Given the description of an element on the screen output the (x, y) to click on. 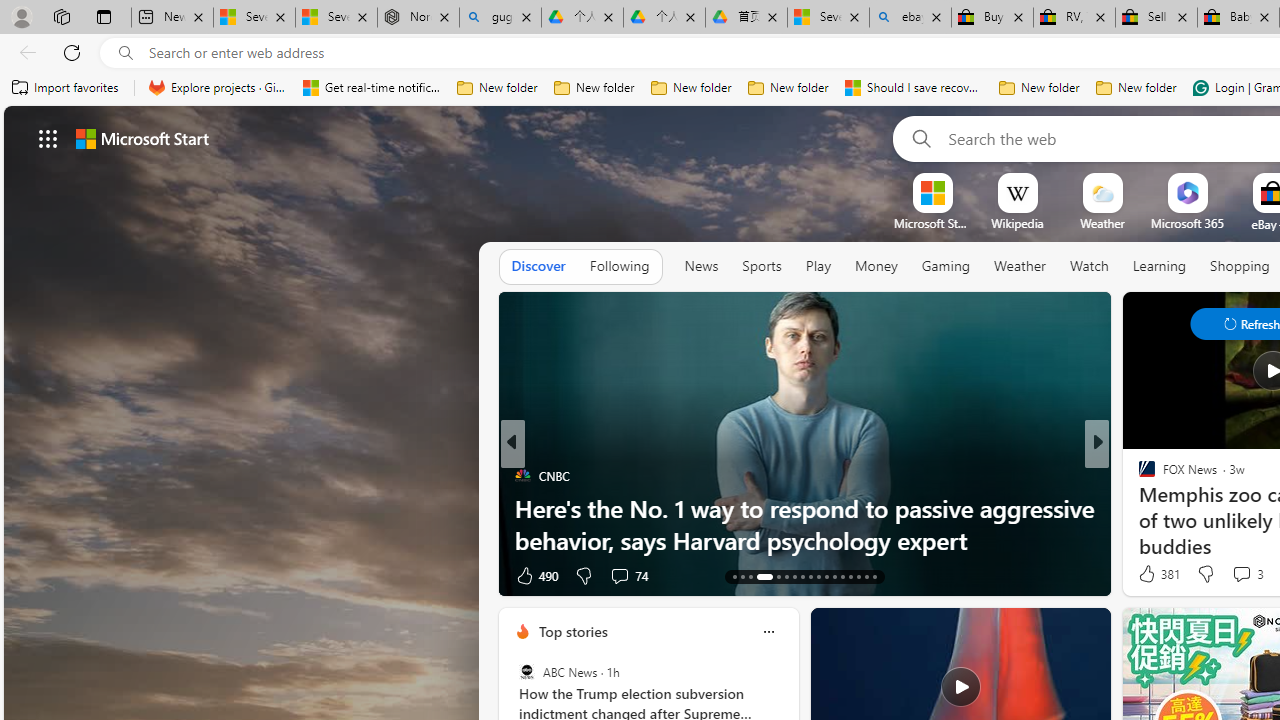
AutomationID: tab-25 (842, 576)
Search icon (125, 53)
Microsoft 365 (1186, 223)
guge yunpan - Search (500, 17)
Money (876, 267)
78 Like (1149, 574)
The Manual (1138, 475)
AutomationID: tab-15 (750, 576)
Dislike (1204, 574)
View comments 3 Comment (1247, 574)
